Given the description of an element on the screen output the (x, y) to click on. 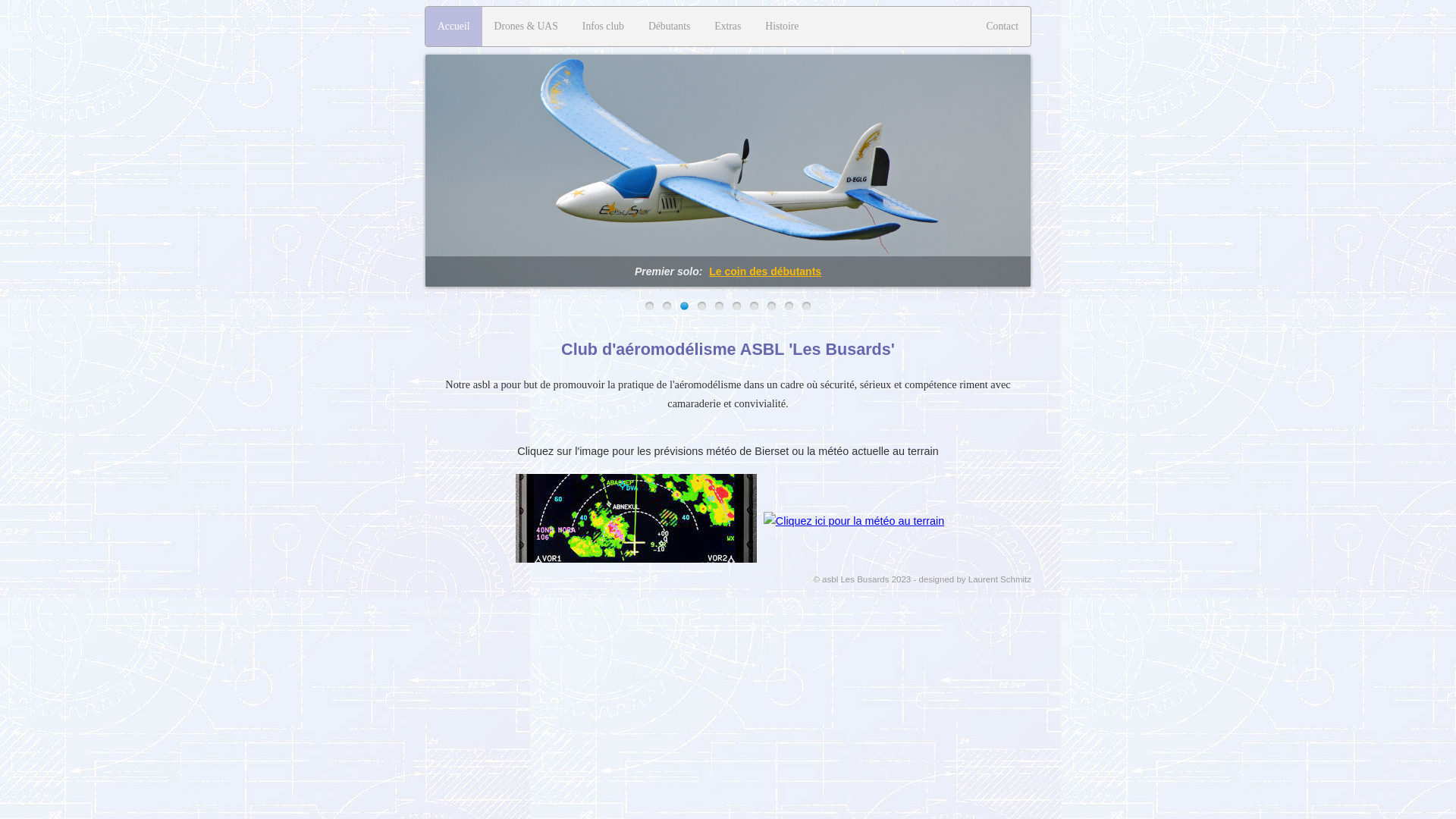
Accueil Element type: text (453, 26)
Contact Element type: text (1001, 26)
Histoire Element type: text (781, 26)
Drones & UAS Element type: text (526, 26)
Normes de bruit Element type: text (758, 271)
Extras Element type: text (727, 26)
Infos club Element type: text (603, 26)
